Given the description of an element on the screen output the (x, y) to click on. 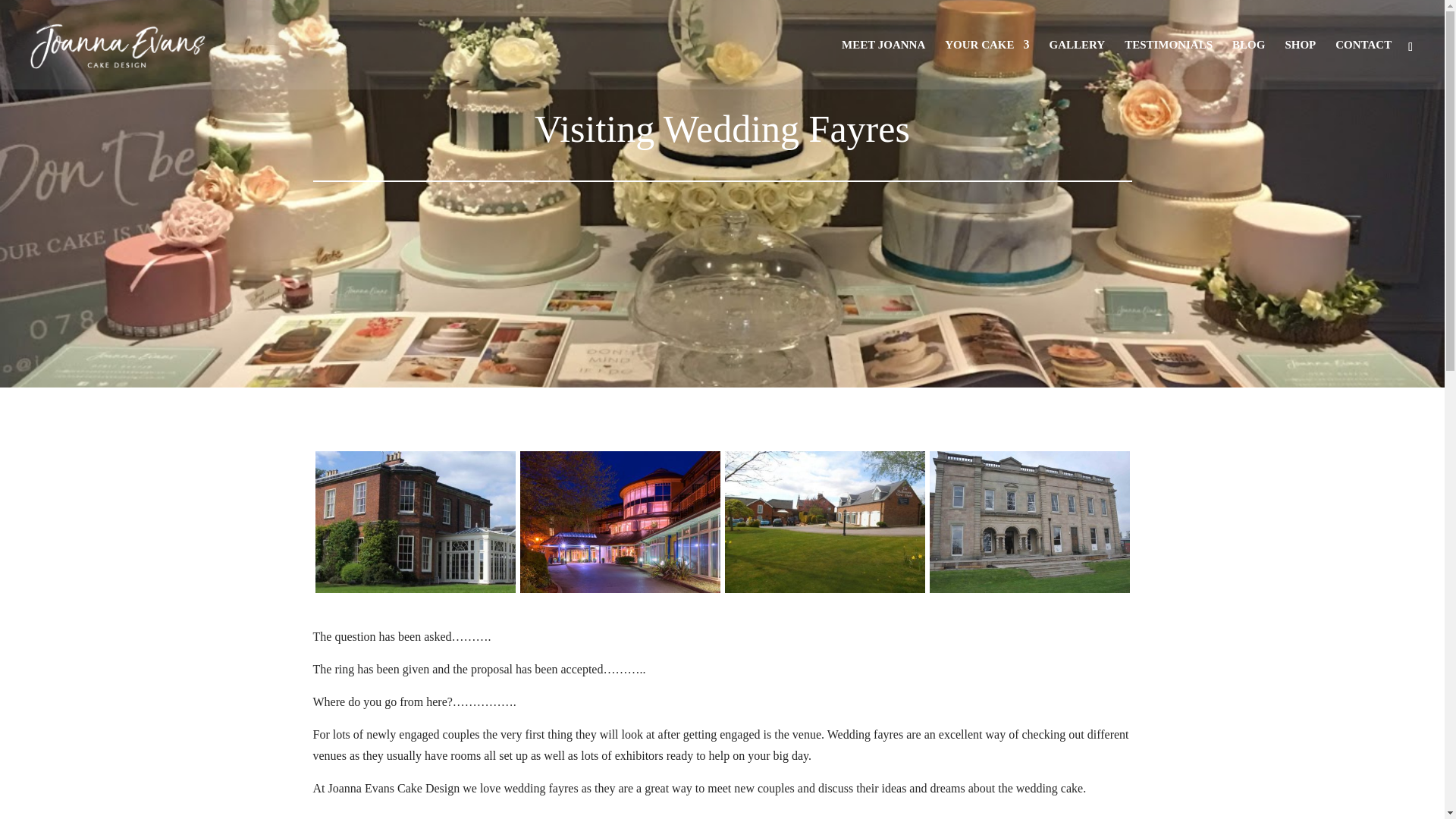
Melborne View Hotel (824, 592)
Mickleover Court (619, 592)
CONTACT (1363, 64)
MEET JOANNA (882, 64)
Dovecliffe Hall Hotel (415, 592)
TESTIMONIALS (1168, 64)
YOUR CAKE (986, 64)
GALLERY (1077, 64)
Alfreton Hall (1029, 592)
